Given the description of an element on the screen output the (x, y) to click on. 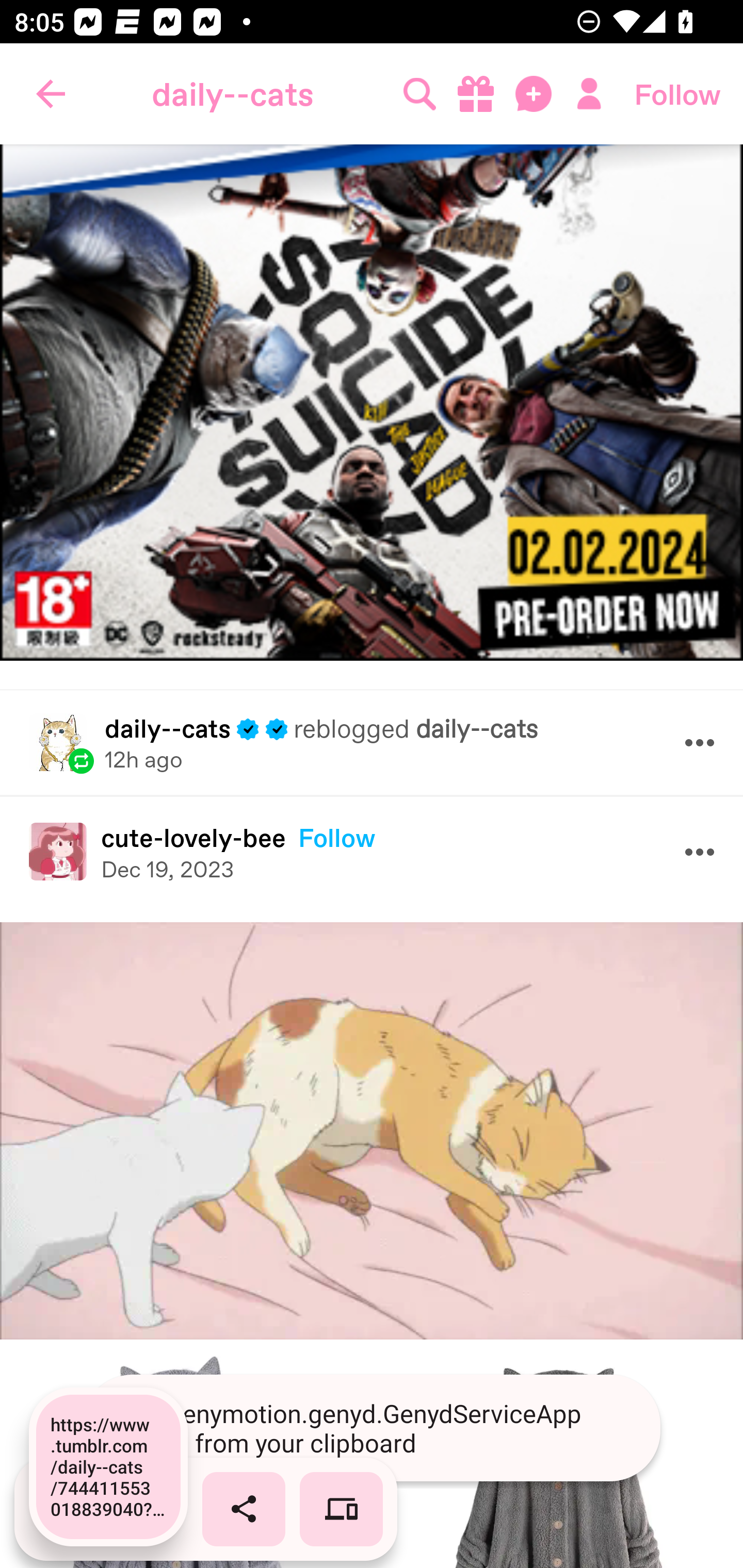
Navigate up (50, 93)
Messages (535, 93)
Follow (677, 93)
